Given the description of an element on the screen output the (x, y) to click on. 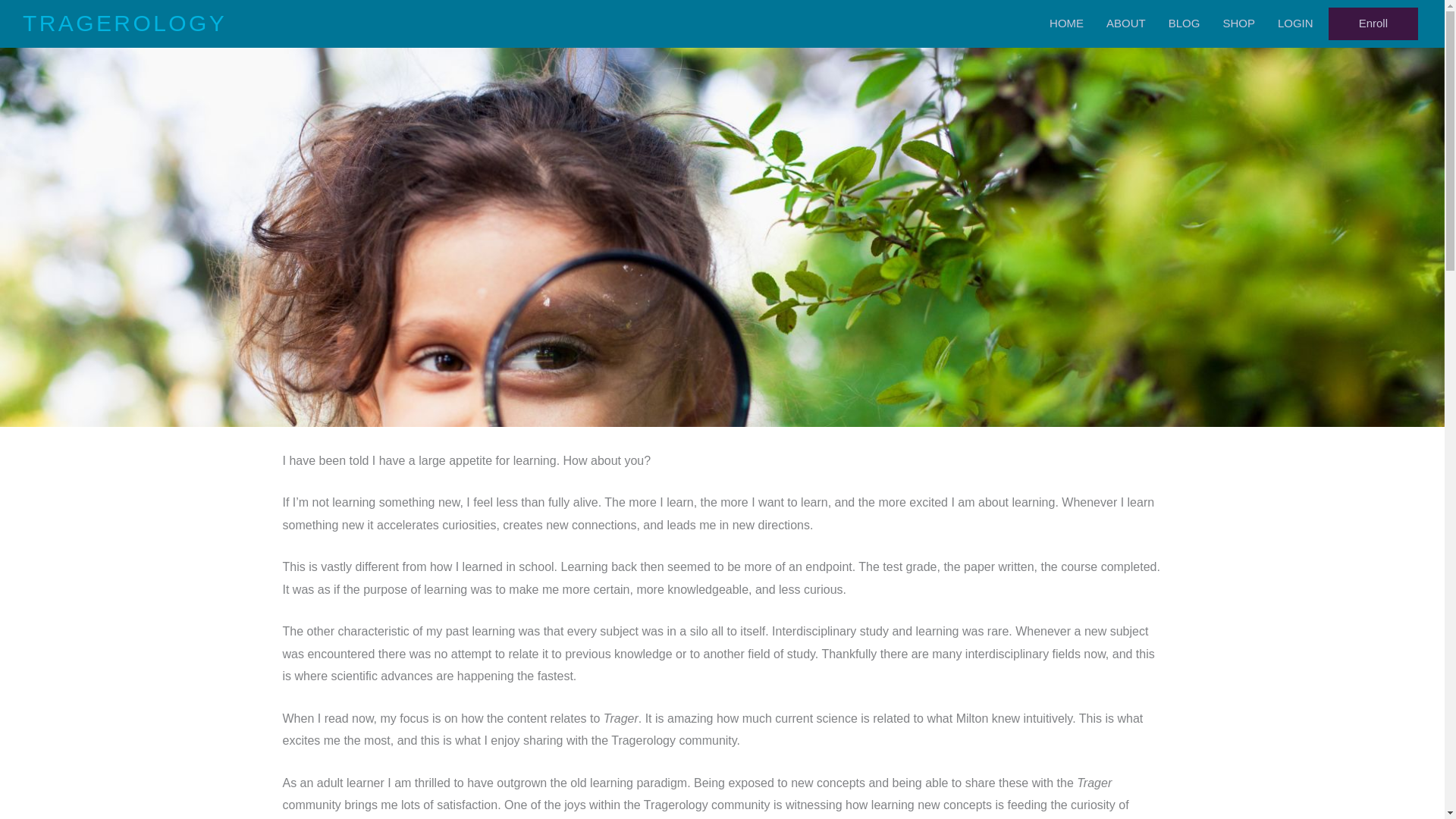
HOME (1066, 23)
SHOP (1238, 23)
LOGIN (1294, 23)
Enroll (1372, 23)
BLOG (1184, 23)
ABOUT (1126, 23)
